Given the description of an element on the screen output the (x, y) to click on. 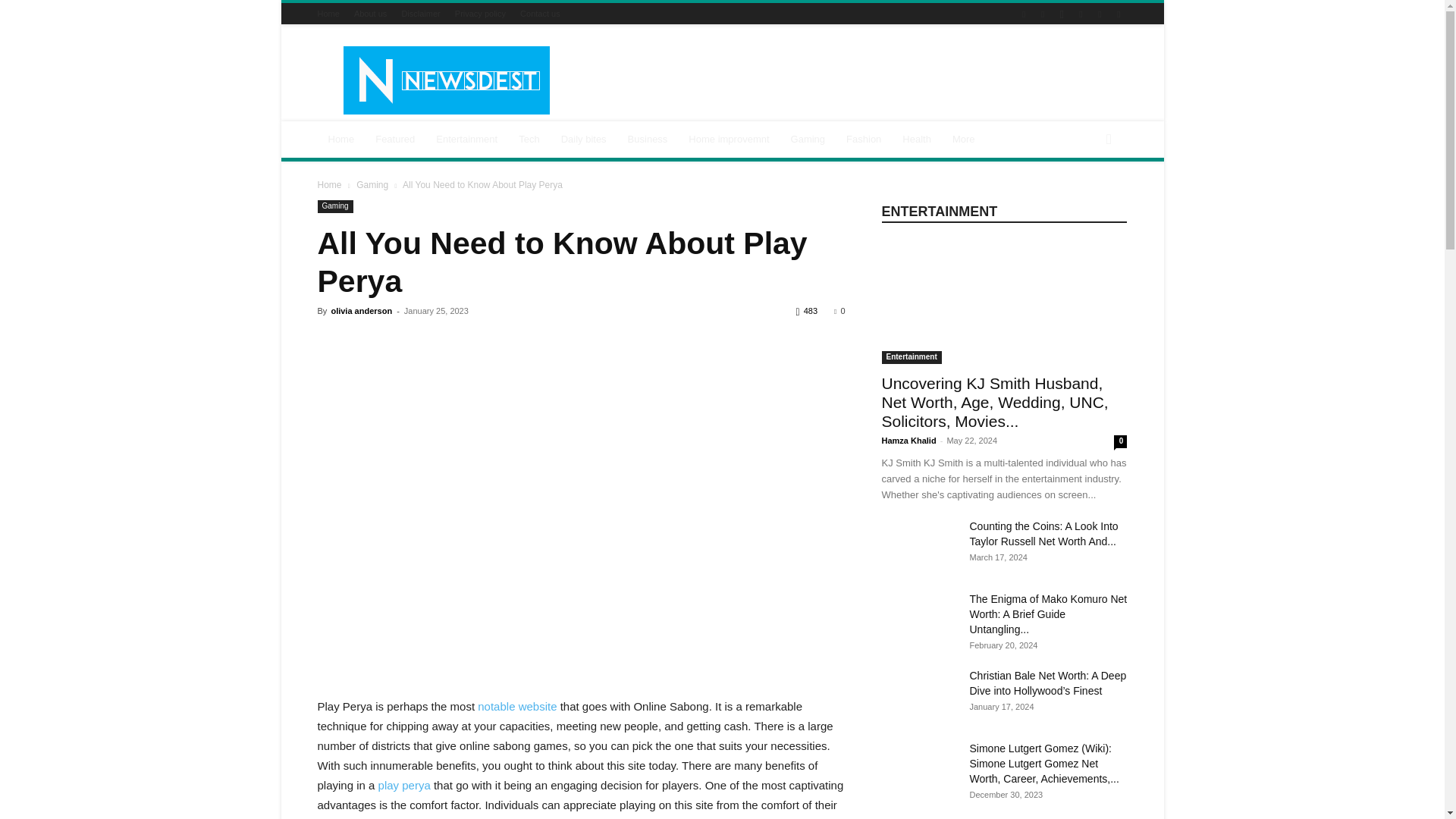
Contact us (539, 13)
Disclaimer (420, 13)
View all posts in Gaming (372, 184)
Home (328, 13)
Privacy policy (479, 13)
About us (370, 13)
